Given the description of an element on the screen output the (x, y) to click on. 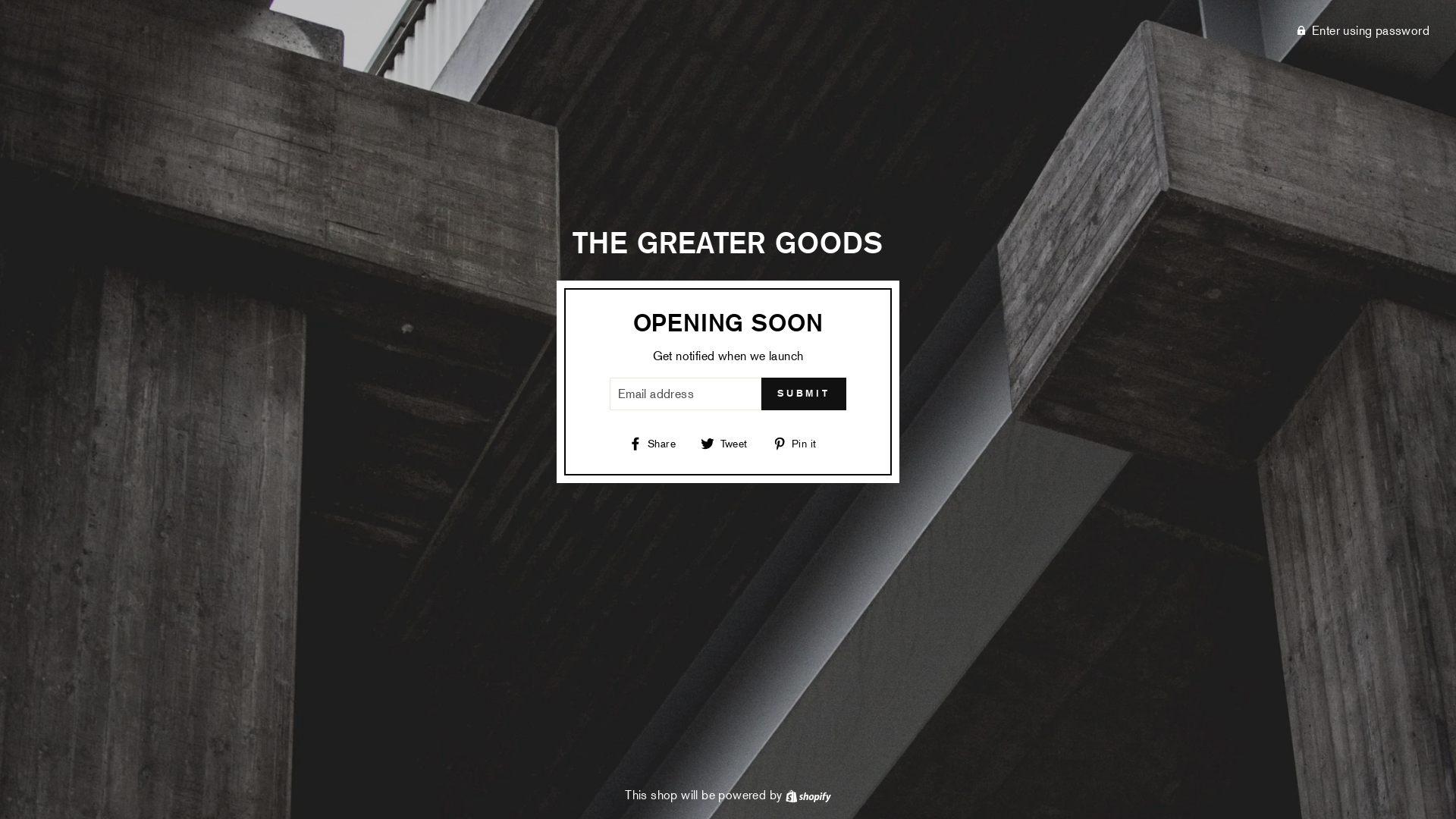
Share
Share on Facebook Element type: text (657, 442)
Tweet
Tweet on Twitter Element type: text (729, 442)
Shopify Element type: text (808, 794)
Enter using password Element type: text (720, 30)
SUBMIT Element type: text (803, 394)
Pin it
Pin on Pinterest Element type: text (799, 442)
